Given the description of an element on the screen output the (x, y) to click on. 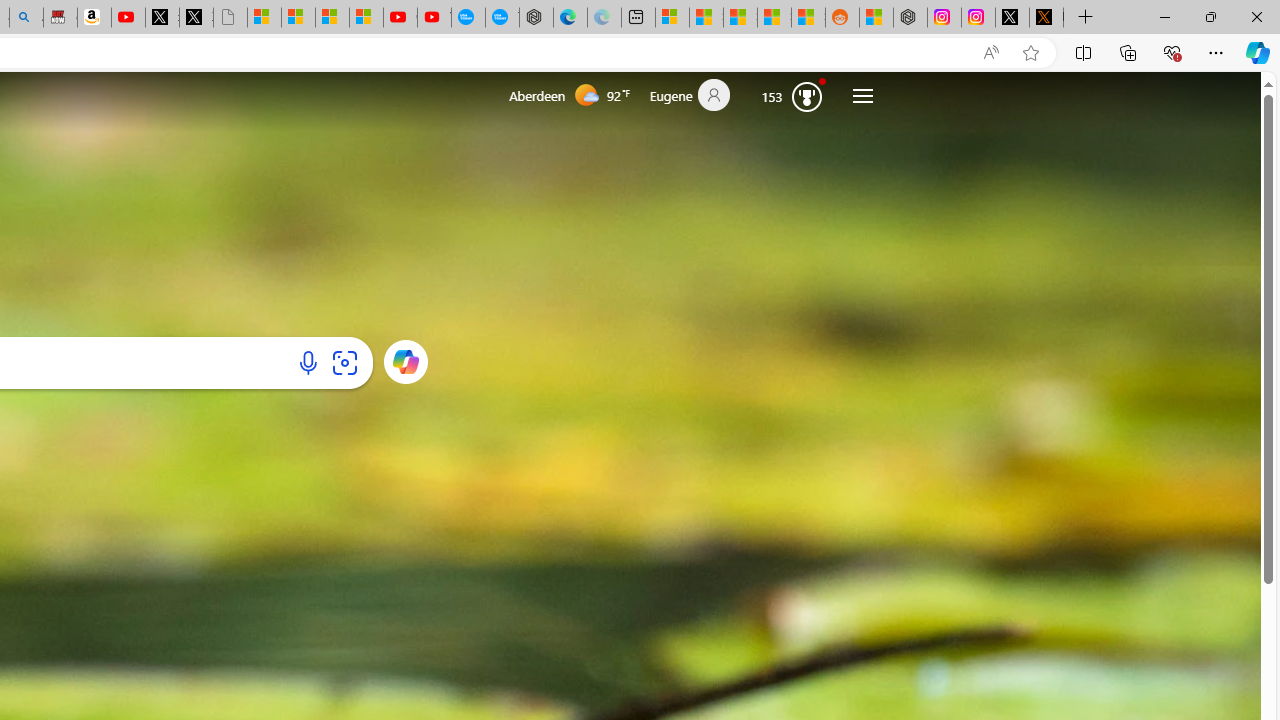
Search using an image (344, 362)
Microsoft Rewards 153 (792, 95)
Gloom - YouTube (400, 17)
X (196, 17)
Untitled (230, 17)
The most popular Google 'how to' searches (502, 17)
help.x.com | 524: A timeout occurred (1046, 17)
